Given the description of an element on the screen output the (x, y) to click on. 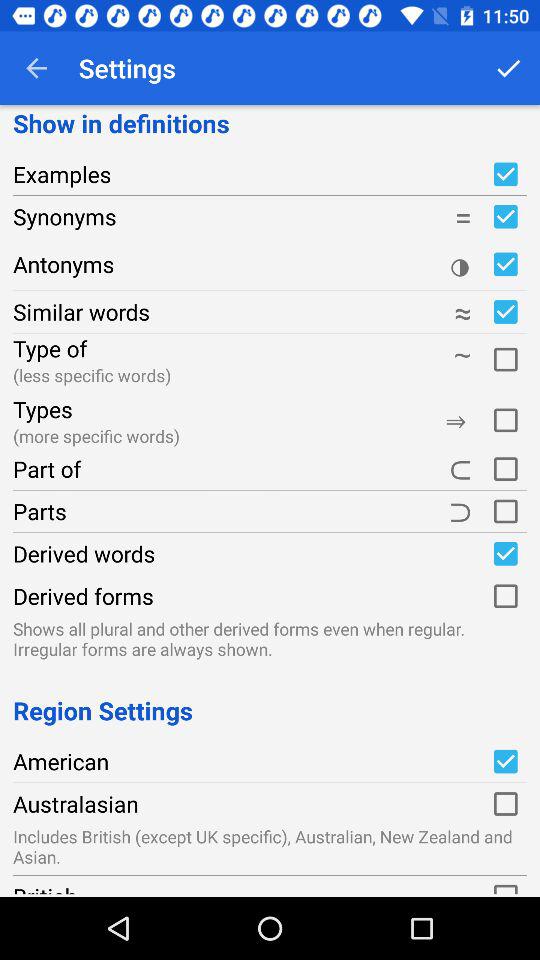
checkmark toggle (505, 761)
